Given the description of an element on the screen output the (x, y) to click on. 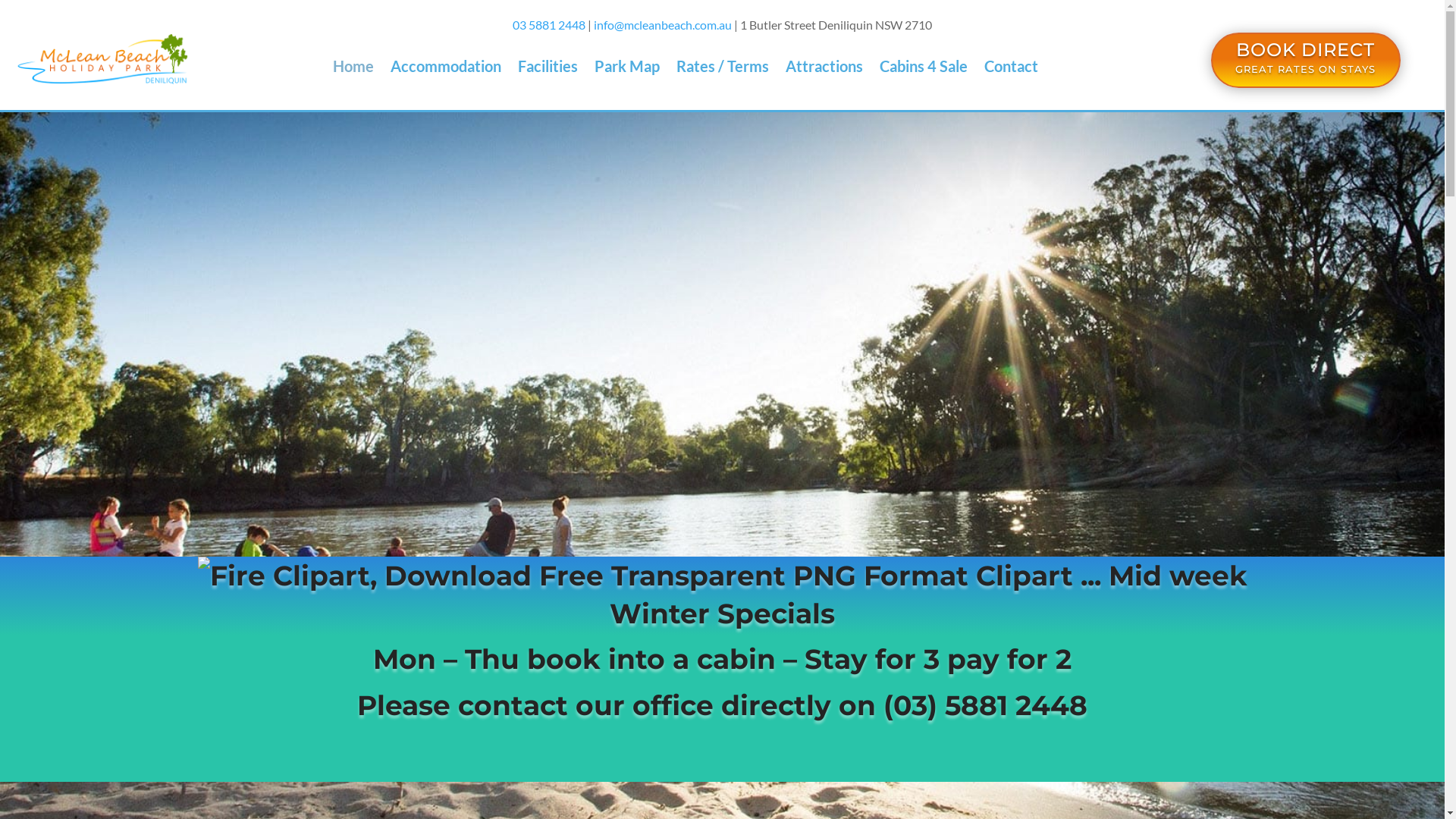
Cabins 4 Sale Element type: text (923, 68)
GREAT RATES ON STAYS Element type: text (1305, 68)
Rates / Terms Element type: text (722, 68)
Park Map Element type: text (626, 68)
Accommodation Element type: text (445, 68)
Contact Element type: text (1011, 68)
Home Element type: text (352, 68)
Facilities Element type: text (547, 68)
03 5881 2448 Element type: text (548, 24)
info@mcleanbeach.com.au Element type: text (662, 24)
McLean Beach Holiday Park Element type: hover (102, 58)
Attractions Element type: text (823, 68)
BOOK DIRECT Element type: text (1305, 49)
